Given the description of an element on the screen output the (x, y) to click on. 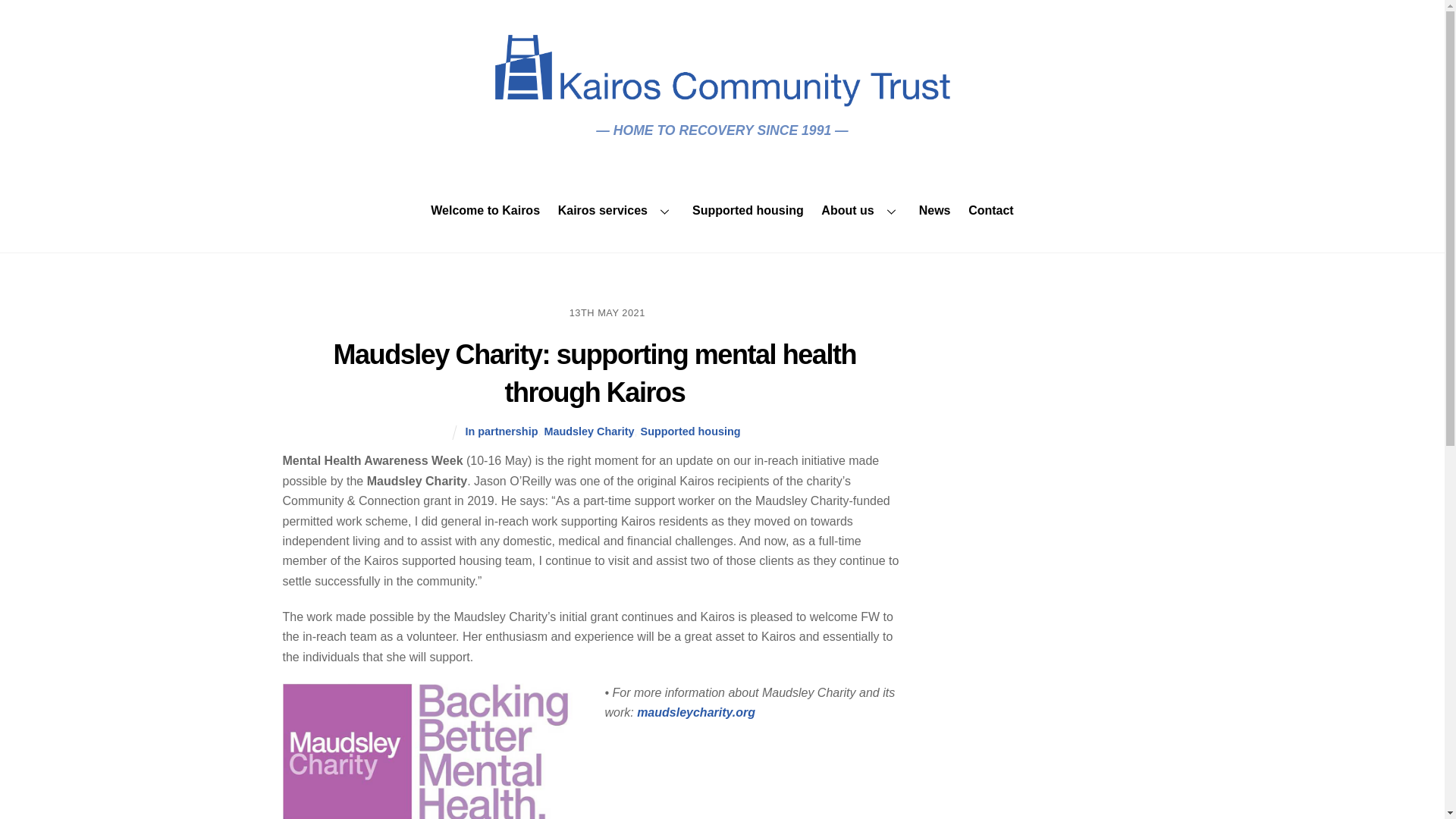
Contact (991, 210)
Supported housing (690, 431)
Maudsley Charity (588, 431)
About us (860, 210)
v2 Maudsley-charity (433, 751)
In partnership (500, 431)
Kairos Community Trust (722, 99)
maudsleycharity.org (696, 712)
Welcome to Kairos (485, 210)
